Given the description of an element on the screen output the (x, y) to click on. 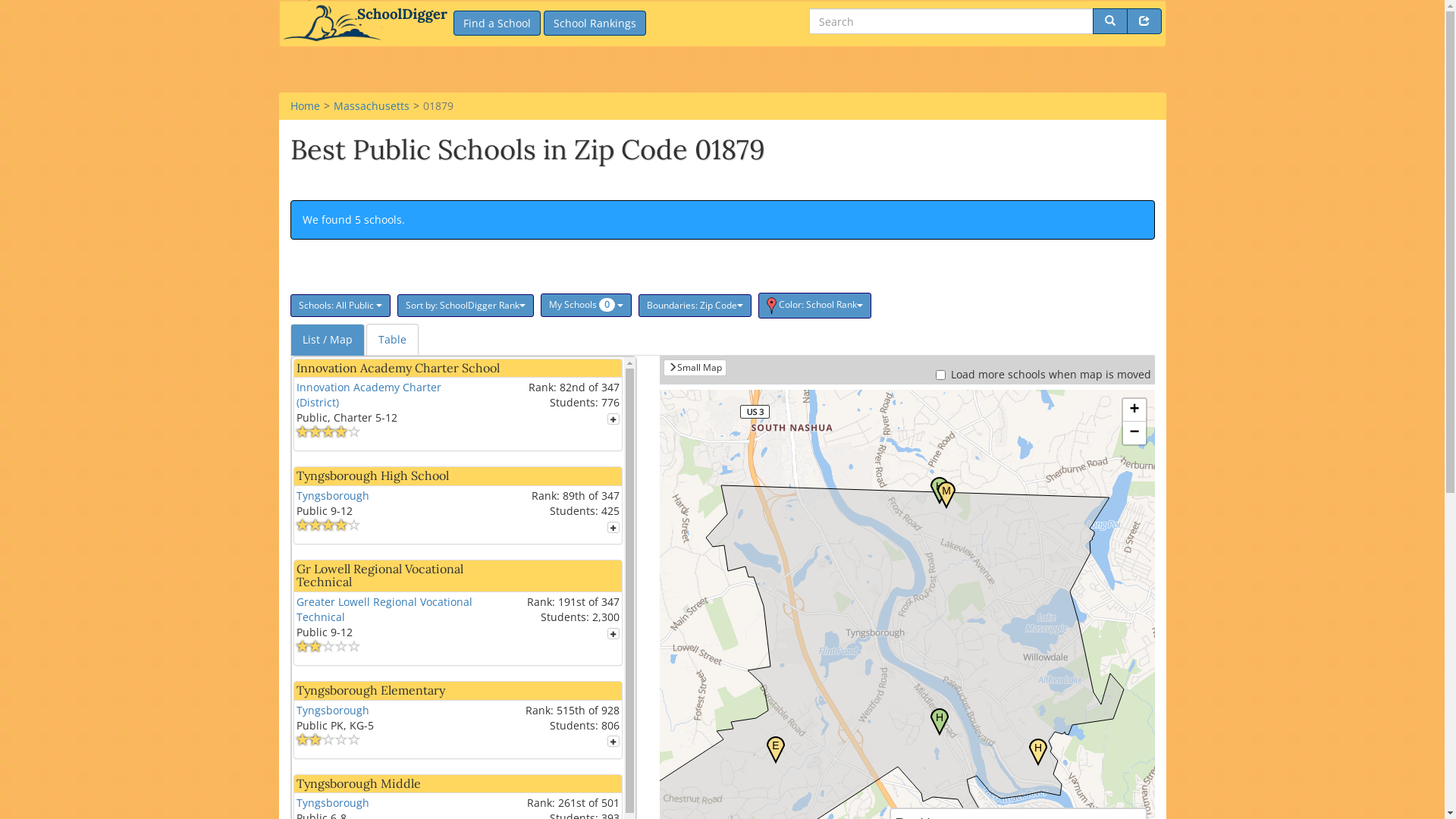
School Rankings Element type: text (593, 22)
Boundaries: Zip Code Element type: text (694, 305)
Schools: All Public Element type: text (339, 305)
Tyngsborough Element type: text (331, 802)
Tyngsborough Element type: text (331, 709)
Tyngsborough Elementary Element type: text (369, 689)
Innovation Academy Charter (District) Element type: text (367, 394)
Massachusetts Element type: text (371, 105)
Find a School Element type: text (496, 22)
Home Element type: text (304, 105)
Tyngsborough Middle Element type: text (357, 782)
Small Map Element type: text (694, 367)
Color: School Rank Element type: text (814, 305)
My Schools 0  Element type: text (584, 304)
Tyngsborough Element type: text (331, 495)
Table Element type: text (391, 339)
Gr Lowell Regional Vocational Technical Element type: text (378, 575)
Greater Lowell Regional Vocational Technical Element type: text (383, 609)
Sort by: SchoolDigger Rank Element type: text (465, 305)
Innovation Academy Charter School Element type: text (396, 367)
List / Map Element type: text (326, 339)
Tyngsborough High School Element type: text (371, 475)
+ Element type: text (1133, 409)
